Given the description of an element on the screen output the (x, y) to click on. 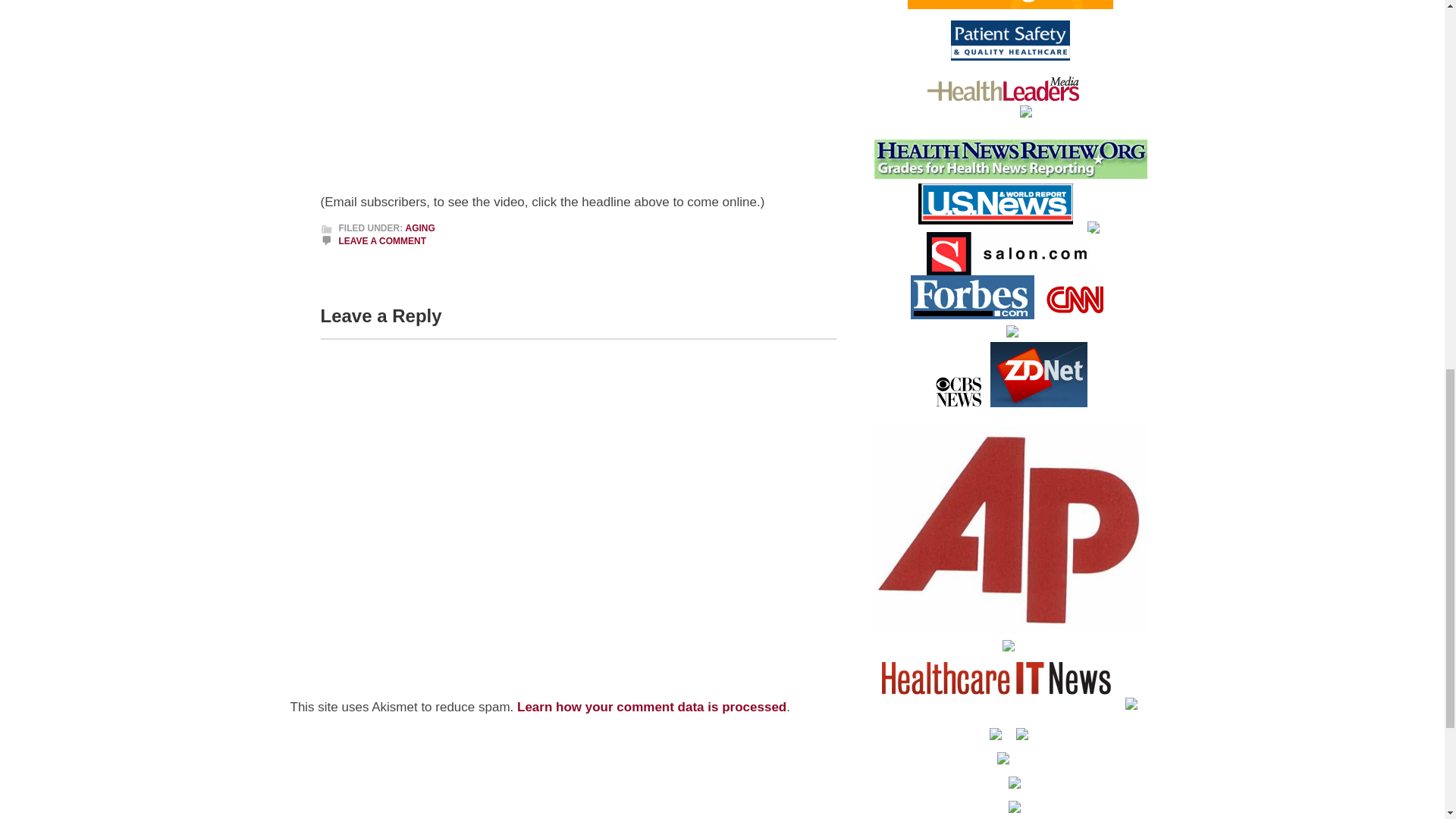
LEAVE A COMMENT (381, 240)
Let's bring "e-patient" to geriatrics (509, 88)
AGING (418, 228)
Learn how your comment data is processed (651, 707)
